Given the description of an element on the screen output the (x, y) to click on. 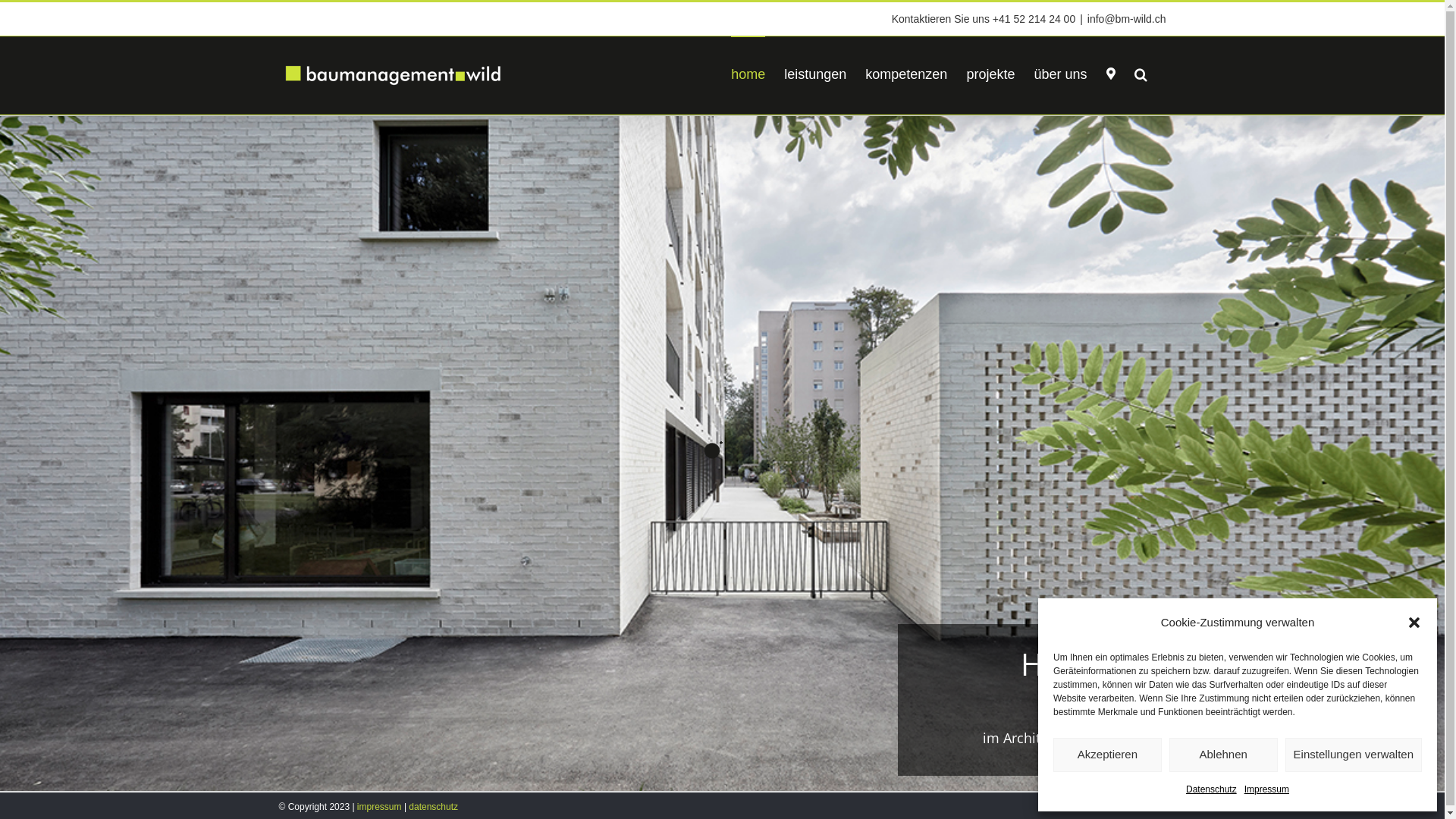
leistungen Element type: text (815, 73)
datenschutz Element type: text (433, 806)
Search Element type: hover (1140, 73)
projekte Element type: text (990, 73)
Datenschutz Element type: text (1211, 789)
Impressum Element type: text (1266, 789)
Ablehnen Element type: text (1223, 754)
kompetenzen Element type: text (906, 73)
info@bm-wild.ch Element type: text (1126, 18)
Einstellungen verwalten Element type: text (1353, 754)
Akzeptieren Element type: text (1107, 754)
home Element type: text (748, 73)
impressum Element type: text (379, 806)
+41 52 214 24 00 Element type: text (1033, 18)
